Given the description of an element on the screen output the (x, y) to click on. 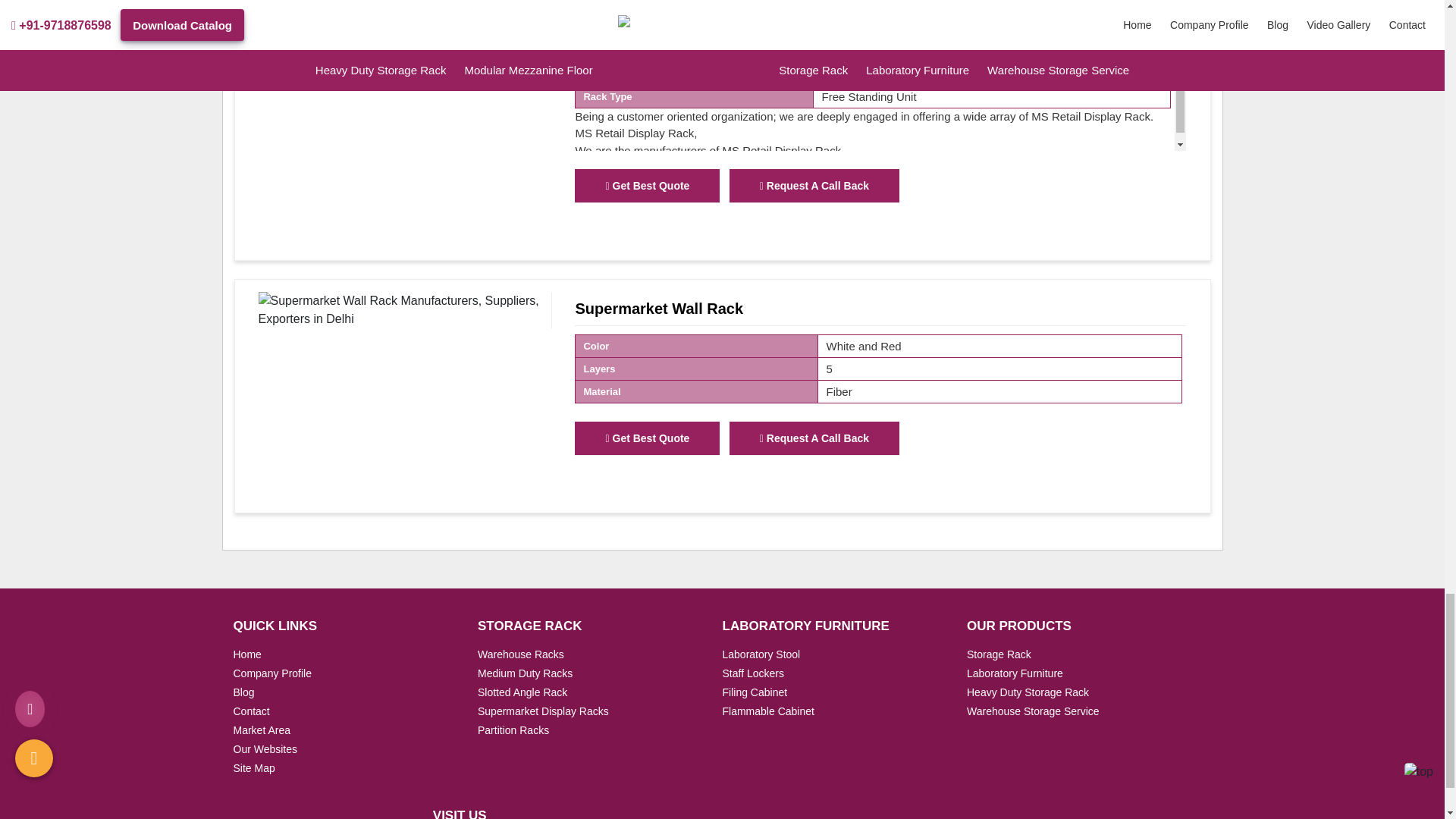
Company Profile (272, 673)
Home (247, 654)
Contact (250, 711)
Blog (243, 692)
